Given the description of an element on the screen output the (x, y) to click on. 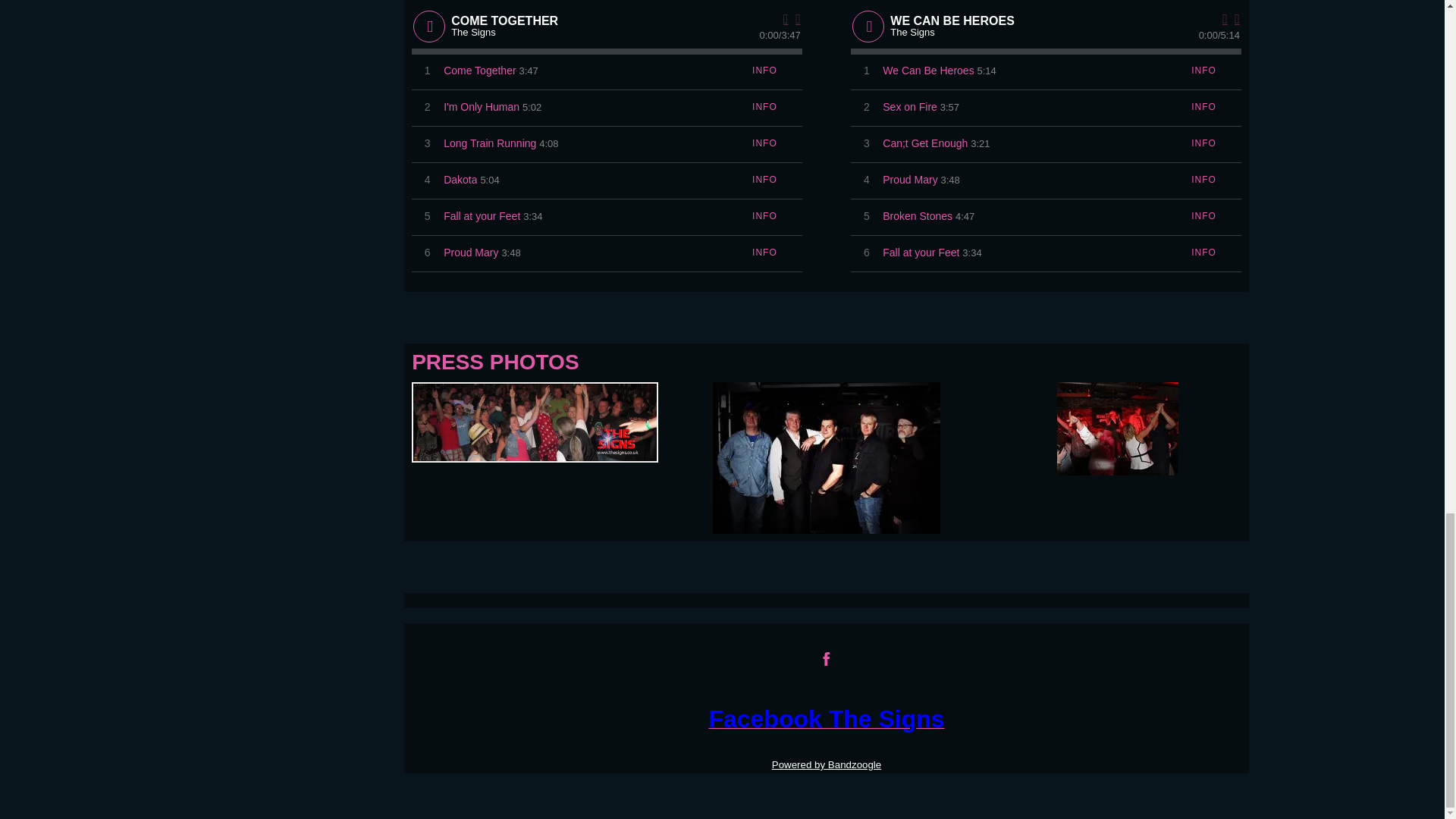
Long Train Running (489, 143)
I'm Only Human (481, 107)
Long Train Running (489, 143)
Come Together (479, 70)
INFO (764, 143)
INFO (764, 107)
I'm Only Human (481, 107)
INFO (764, 70)
Come Together (479, 70)
